Given the description of an element on the screen output the (x, y) to click on. 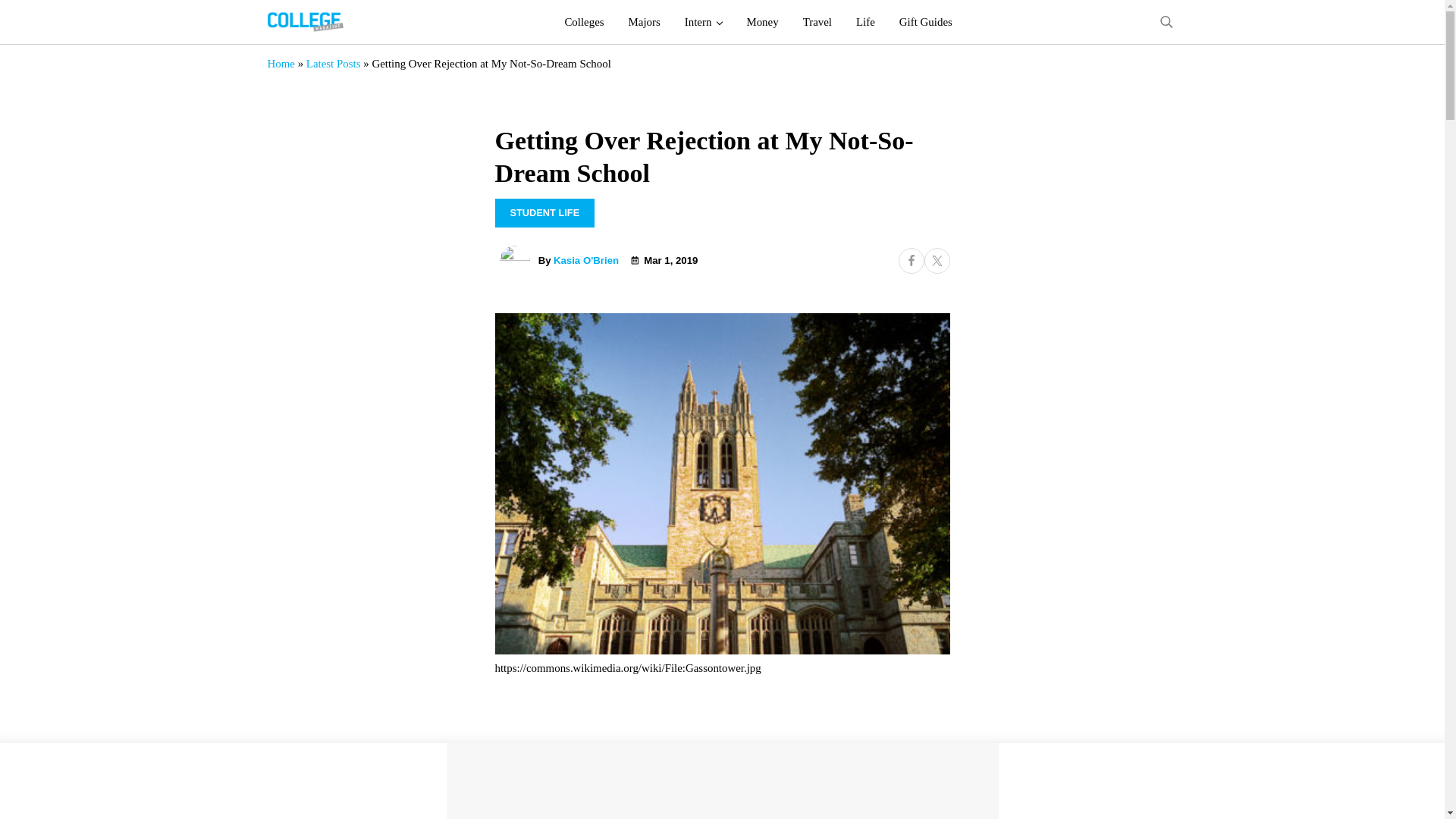
Intern (703, 21)
Life (865, 21)
Money (761, 21)
Majors (643, 21)
Travel (817, 21)
Share on Twitter (936, 260)
Colleges (583, 21)
Gift Guides (924, 21)
Share on Facebook (910, 260)
